Given the description of an element on the screen output the (x, y) to click on. 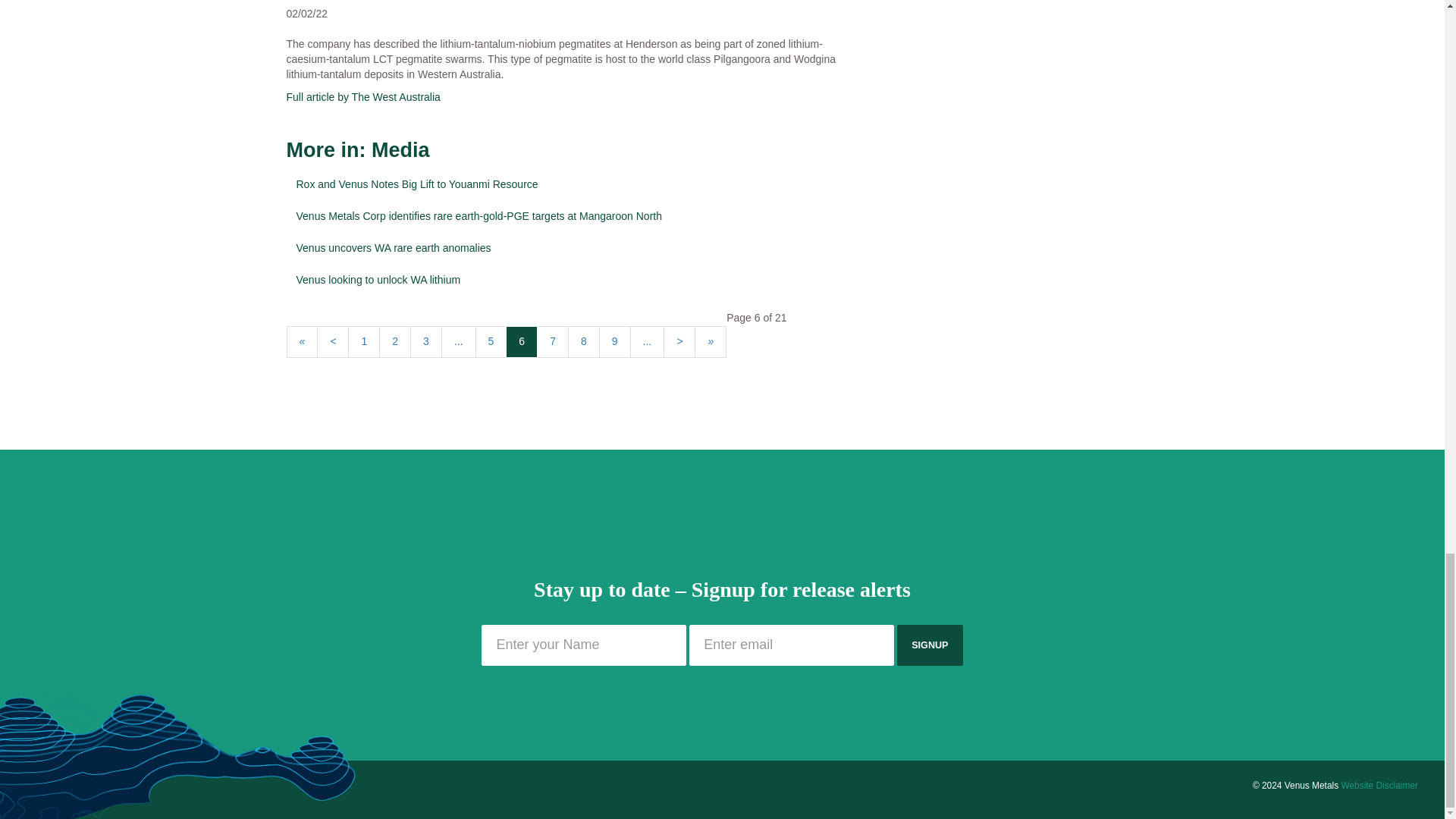
1 (363, 341)
Start (302, 341)
7 (553, 341)
2 (394, 341)
9 (614, 341)
8 (583, 341)
3 (426, 341)
4 (458, 341)
Full article by The West Australia (363, 96)
Website Disclaimer  (1379, 785)
10 (647, 341)
End (710, 341)
5 (491, 341)
Next (679, 341)
Prev (333, 341)
